Given the description of an element on the screen output the (x, y) to click on. 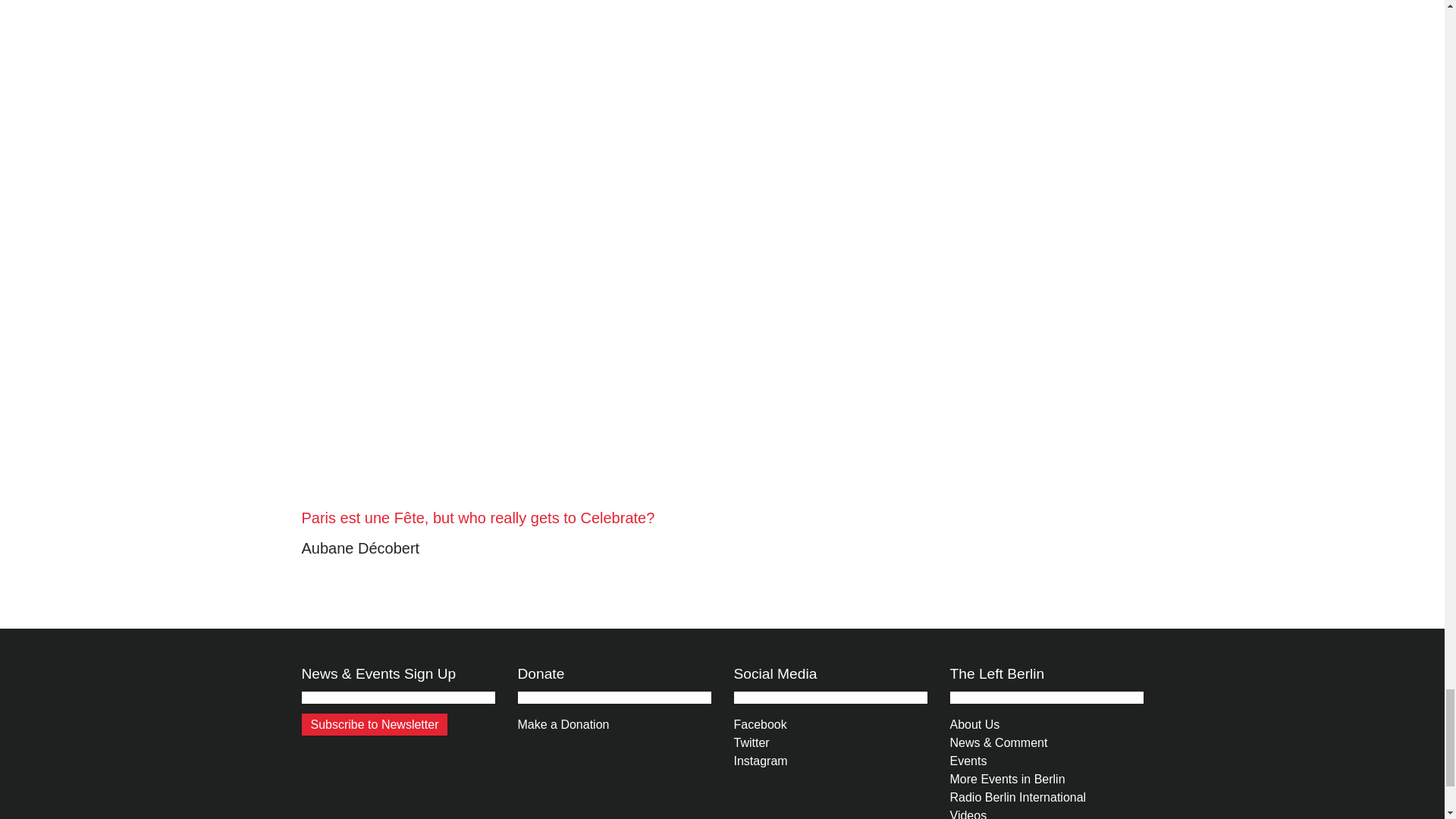
Radio Berlin International (1017, 797)
Twitter (751, 742)
Events (968, 760)
About Us (973, 724)
Subscribe to Newsletter (374, 724)
Facebook (760, 724)
Make a Donation (562, 724)
More Events in Berlin (1006, 779)
Instagram (760, 760)
